Given the description of an element on the screen output the (x, y) to click on. 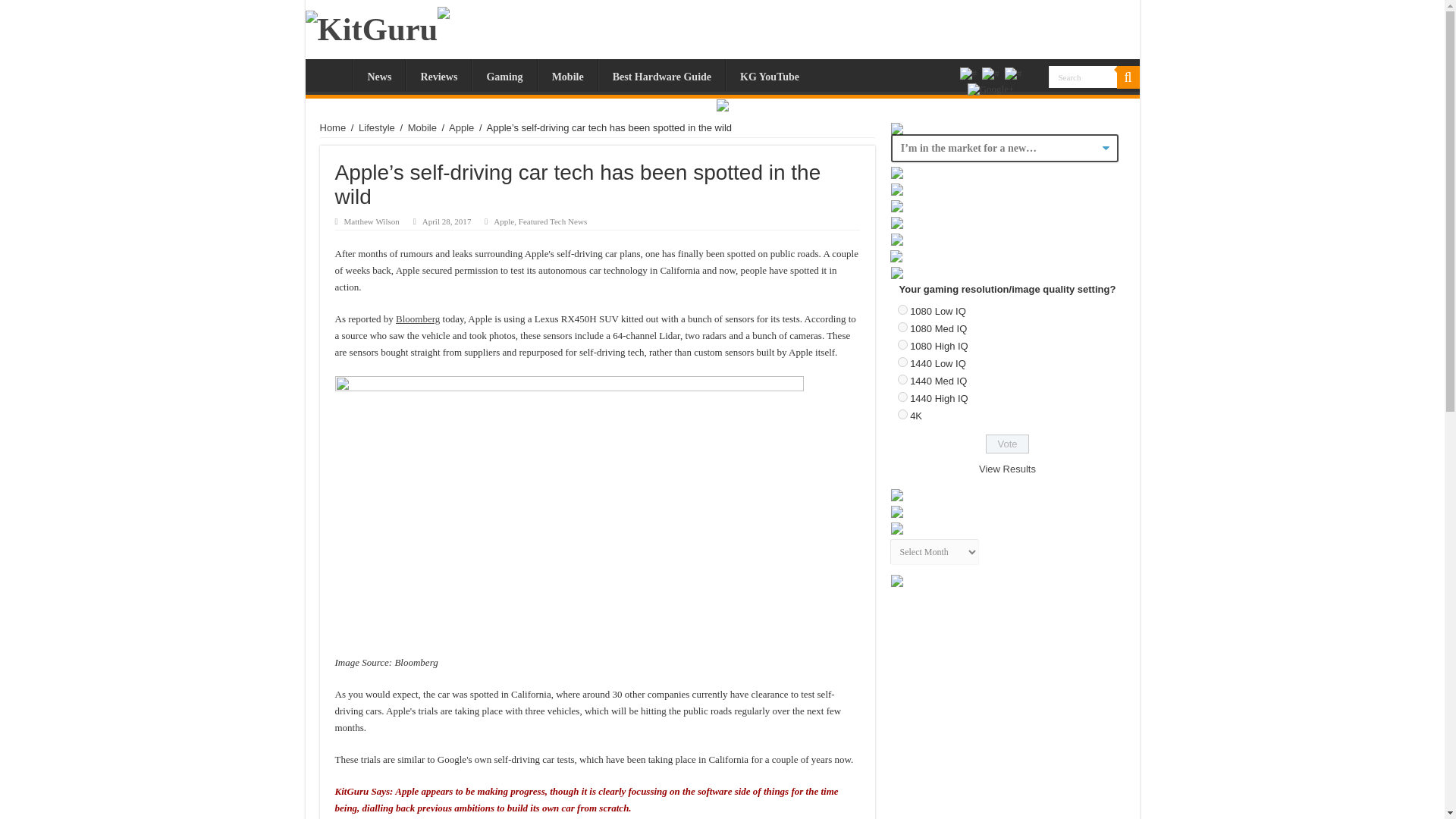
Best Hardware Guide (661, 74)
Bloomberg (417, 318)
Search (1127, 77)
KG YouTube (768, 74)
1384 (902, 397)
Instagram (991, 88)
Apple (503, 221)
Mobile (566, 74)
1382 (902, 361)
Matthew Wilson (370, 221)
